Given the description of an element on the screen output the (x, y) to click on. 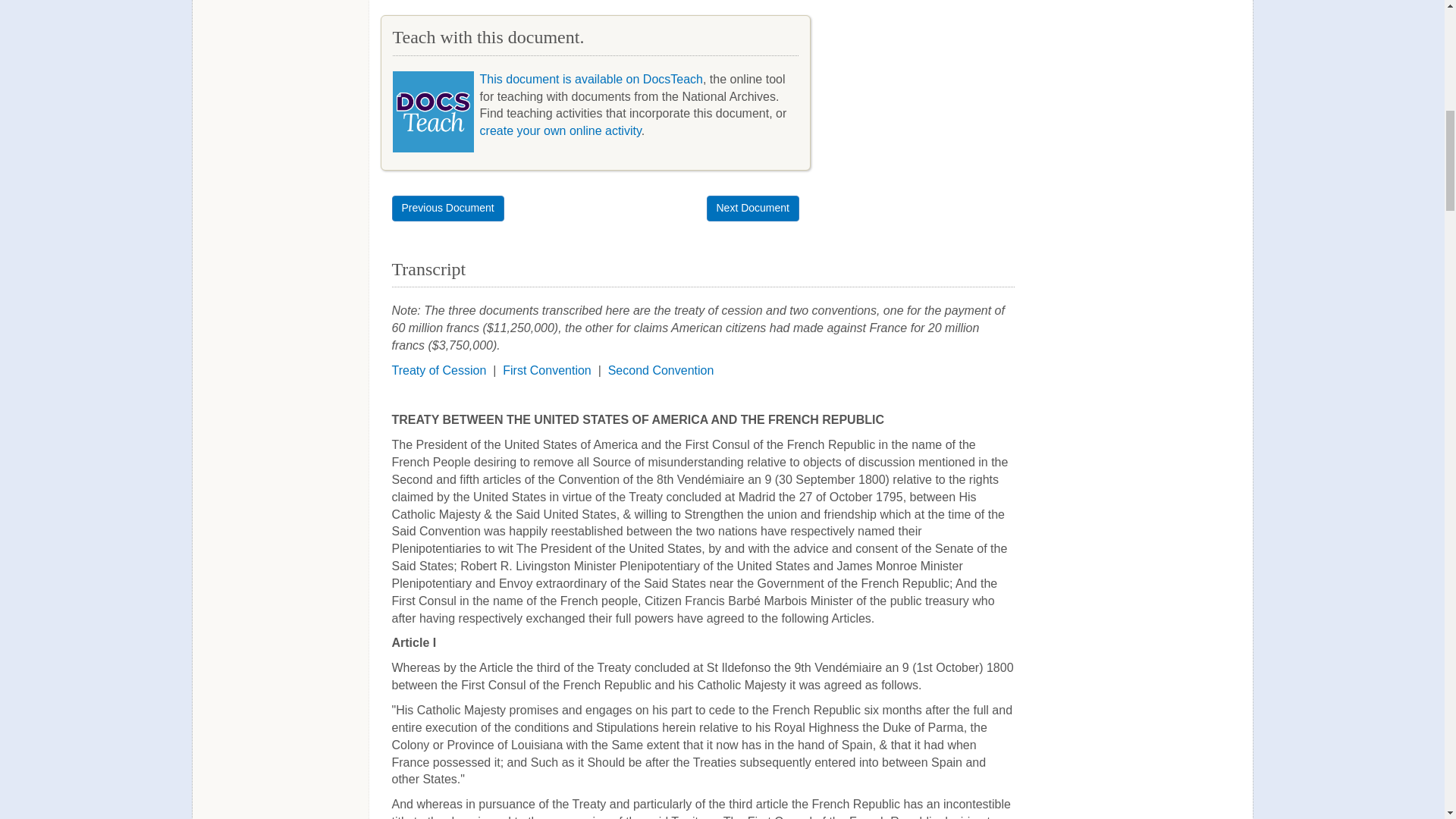
Treaty of Cession (438, 369)
create your own online activity (561, 130)
First Convention (546, 369)
Next Document (752, 208)
Previous Document (447, 208)
This document is available on DocsTeach (591, 78)
Second Convention (661, 369)
